Given the description of an element on the screen output the (x, y) to click on. 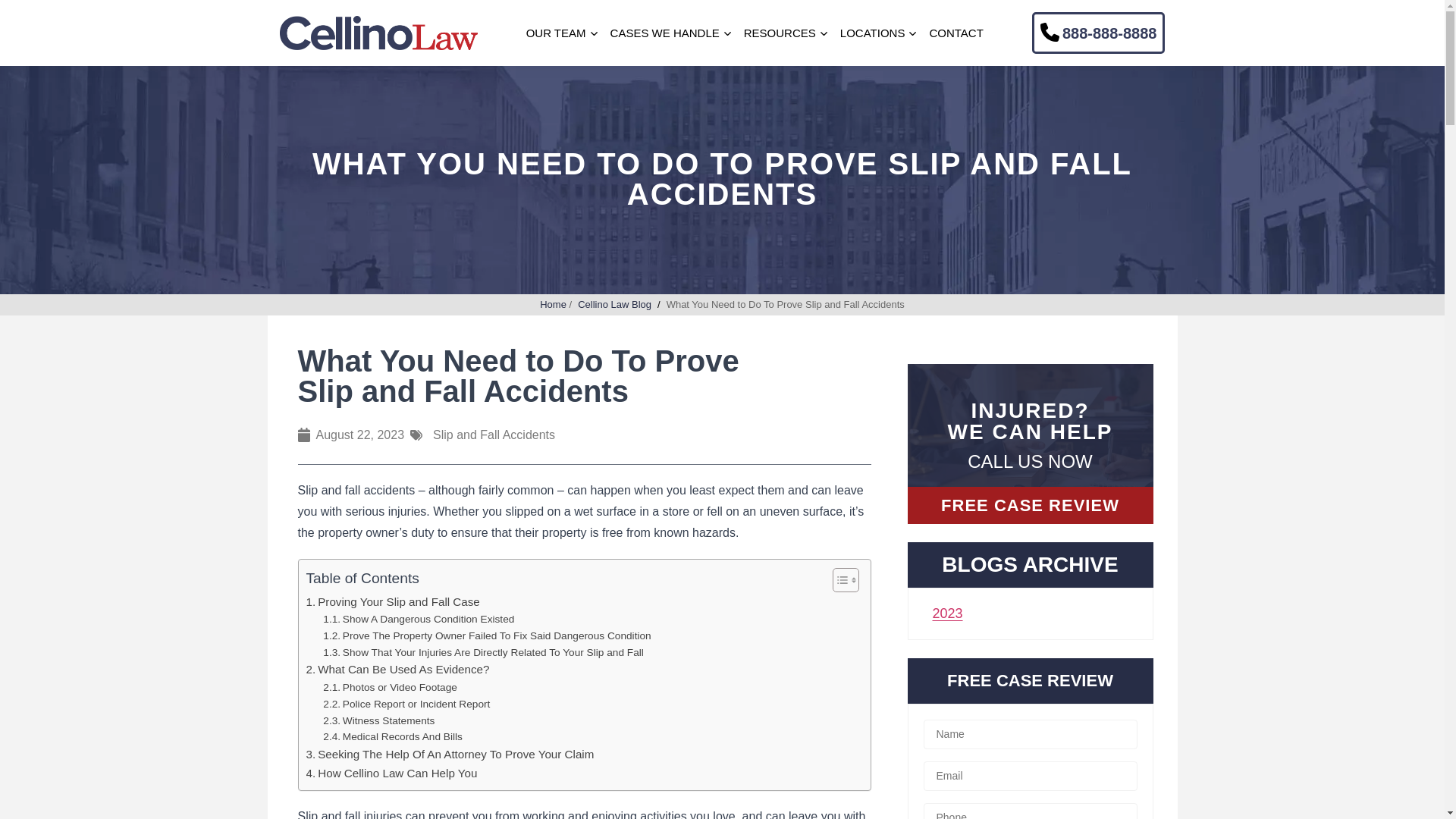
Proving Your Slip and Fall Case (392, 601)
Police Report or Incident Report (406, 704)
Photos or Video Footage (390, 687)
Show A Dangerous Condition Existed (418, 619)
Seeking The Help Of An Attorney To Prove Your Claim (449, 754)
Medical Records And Bills (393, 736)
RESOURCES (779, 33)
CASES WE HANDLE (664, 33)
Witness Statements (378, 720)
What Can Be Used As Evidence? (397, 669)
OUR TEAM (555, 33)
How Cellino Law Can Help You (391, 773)
